Given the description of an element on the screen output the (x, y) to click on. 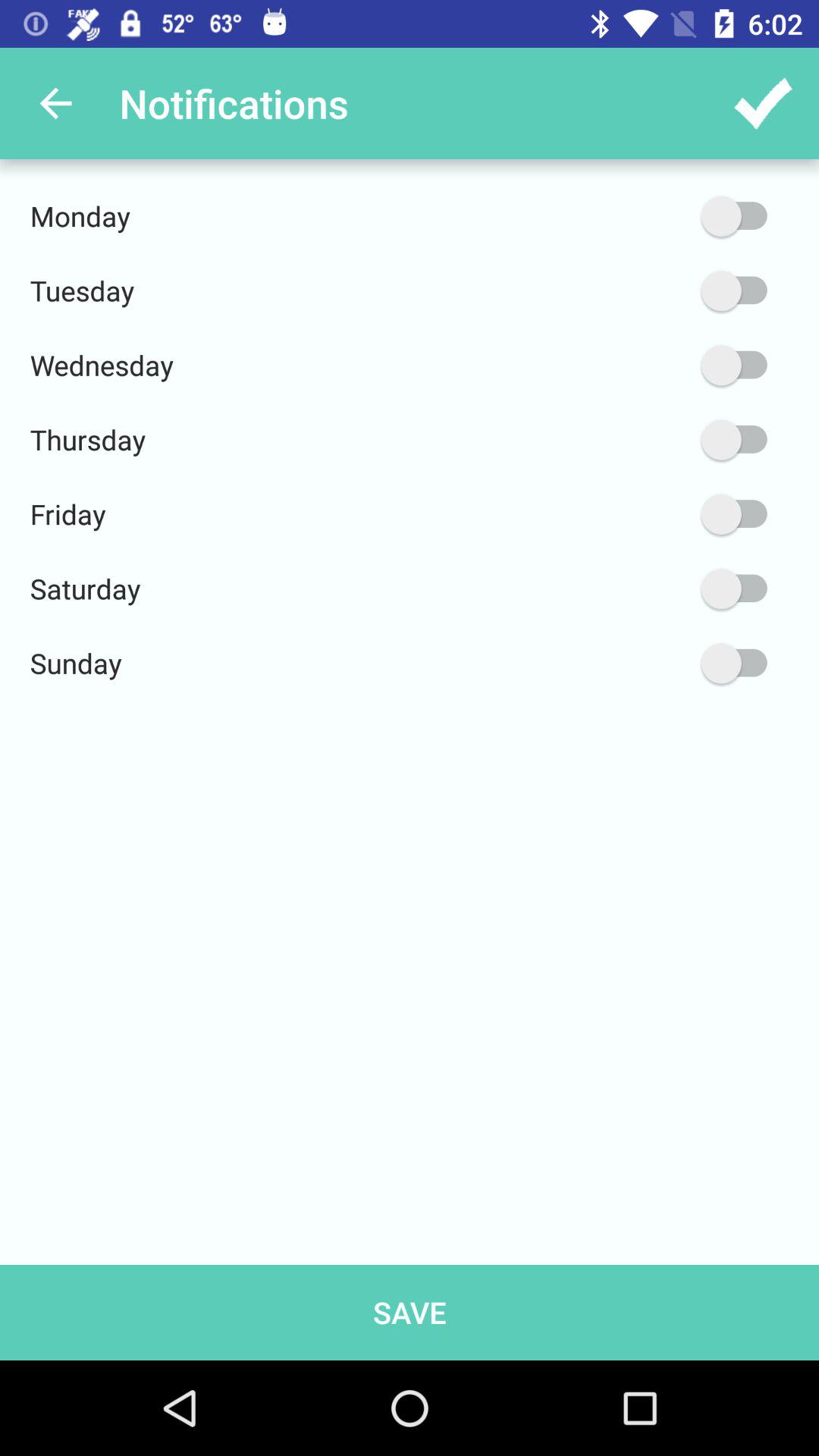
toggle wednesday option (661, 365)
